Given the description of an element on the screen output the (x, y) to click on. 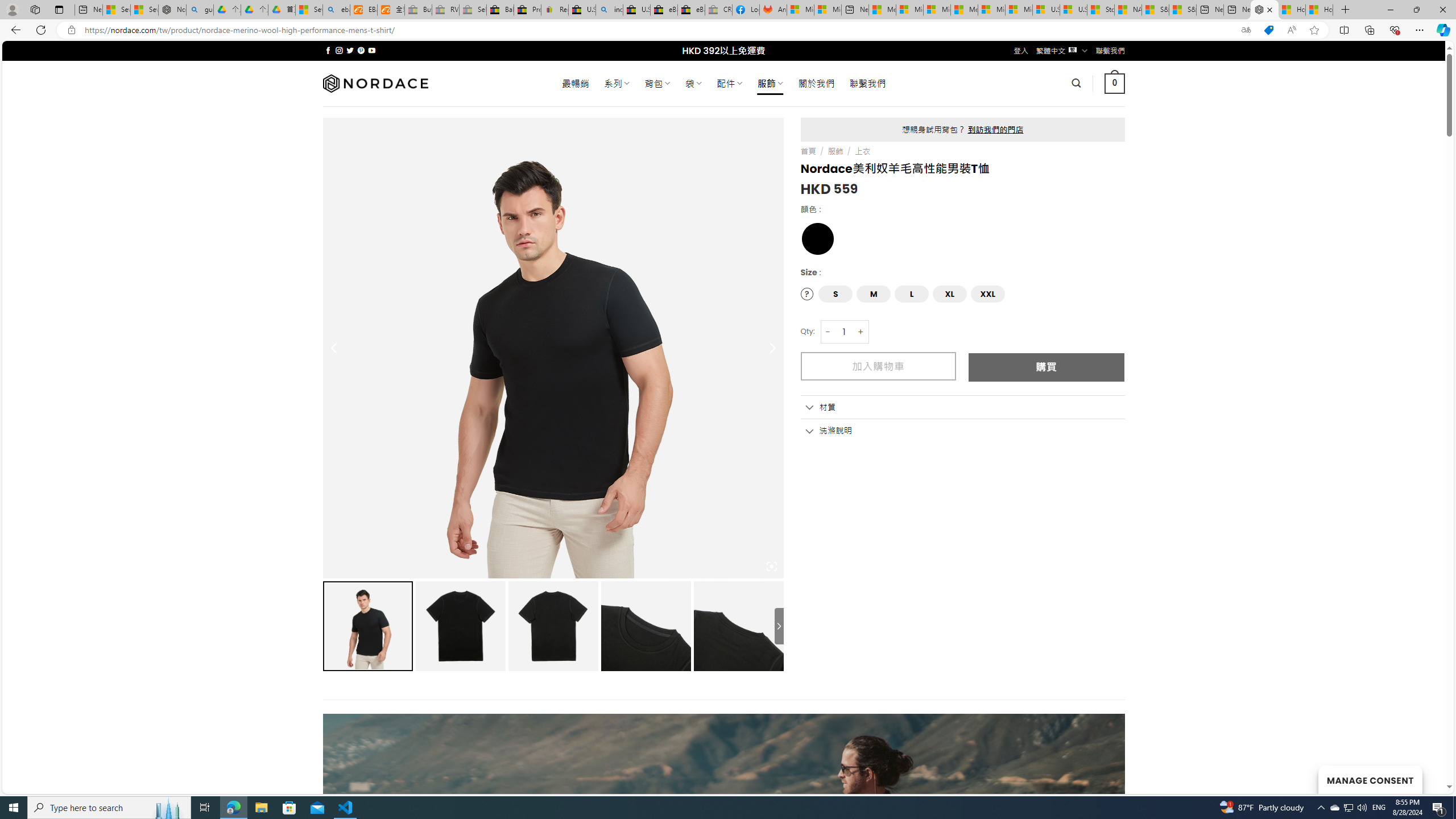
This site has coupons! Shopping in Microsoft Edge (1268, 29)
 0  (1115, 83)
S&P 500, Nasdaq end lower, weighed by Nvidia dip | Watch (1182, 9)
Address and search bar (658, 29)
+ (861, 331)
App bar (728, 29)
